Given the description of an element on the screen output the (x, y) to click on. 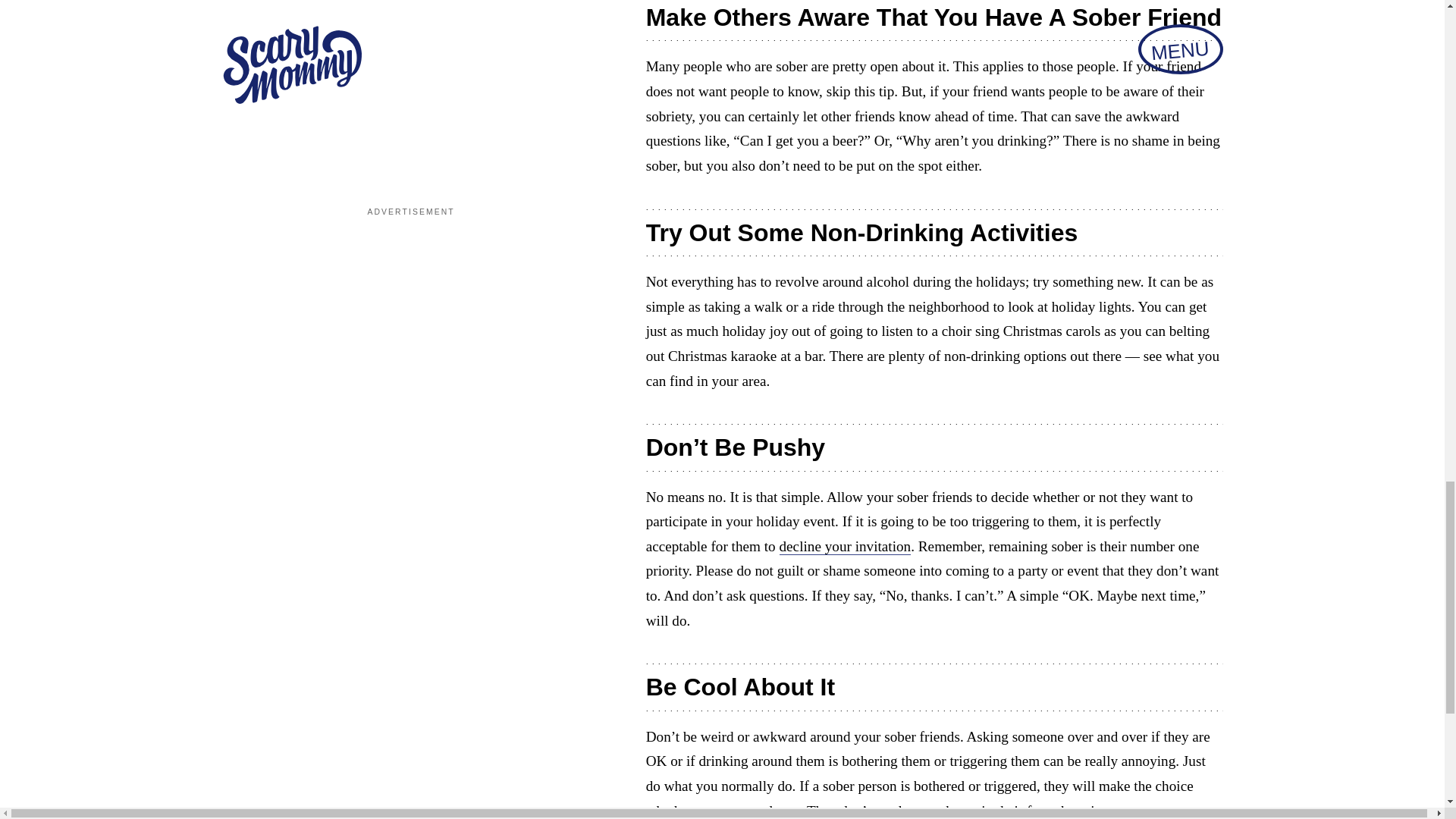
decline your invitation (844, 546)
